Given the description of an element on the screen output the (x, y) to click on. 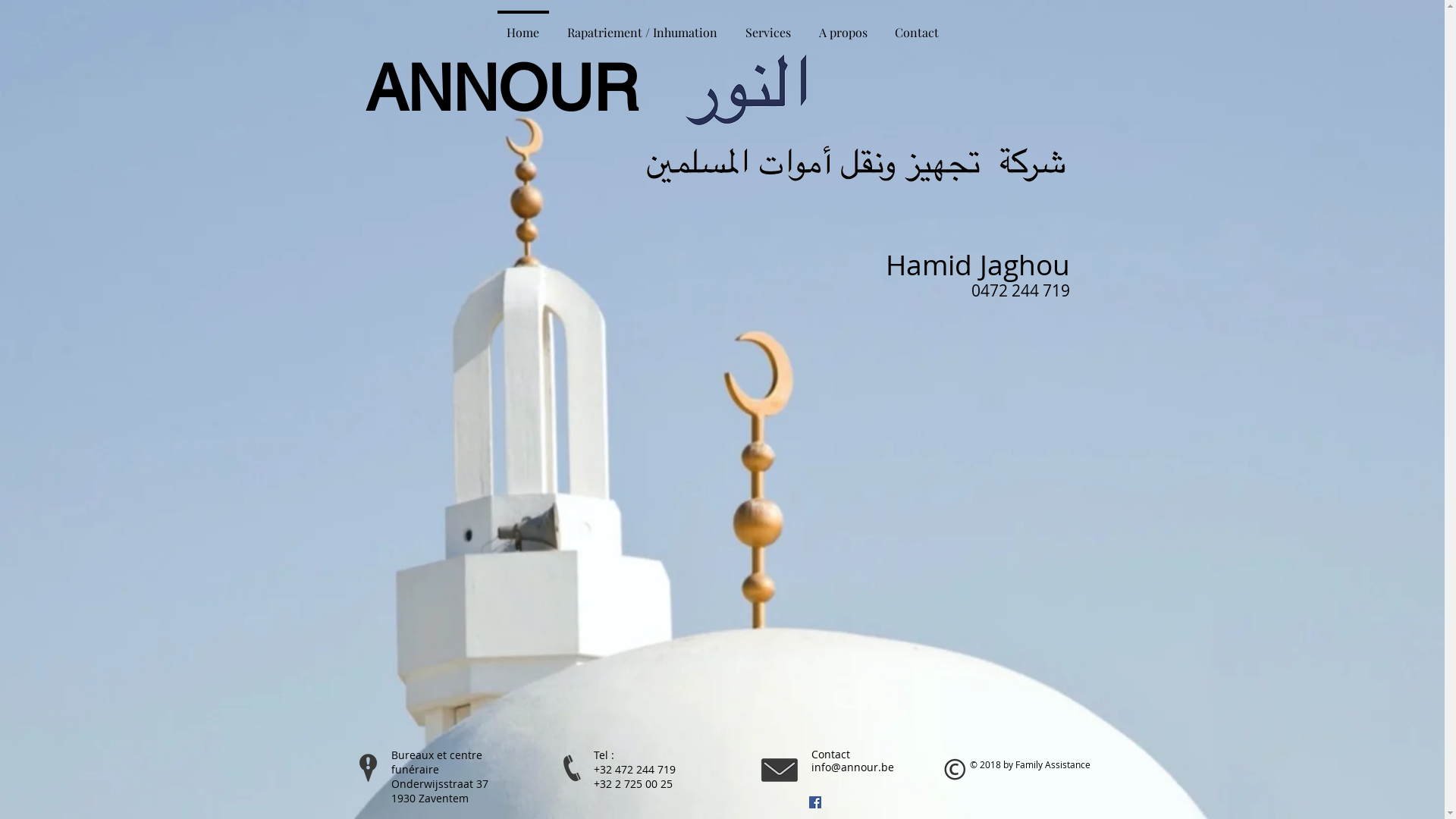
info@annour.be Element type: text (852, 766)
Contact Element type: text (916, 25)
Home Element type: text (522, 25)
A propos Element type: text (843, 25)
Rapatriement / Inhumation Element type: text (642, 25)
Services Element type: text (767, 25)
